Given the description of an element on the screen output the (x, y) to click on. 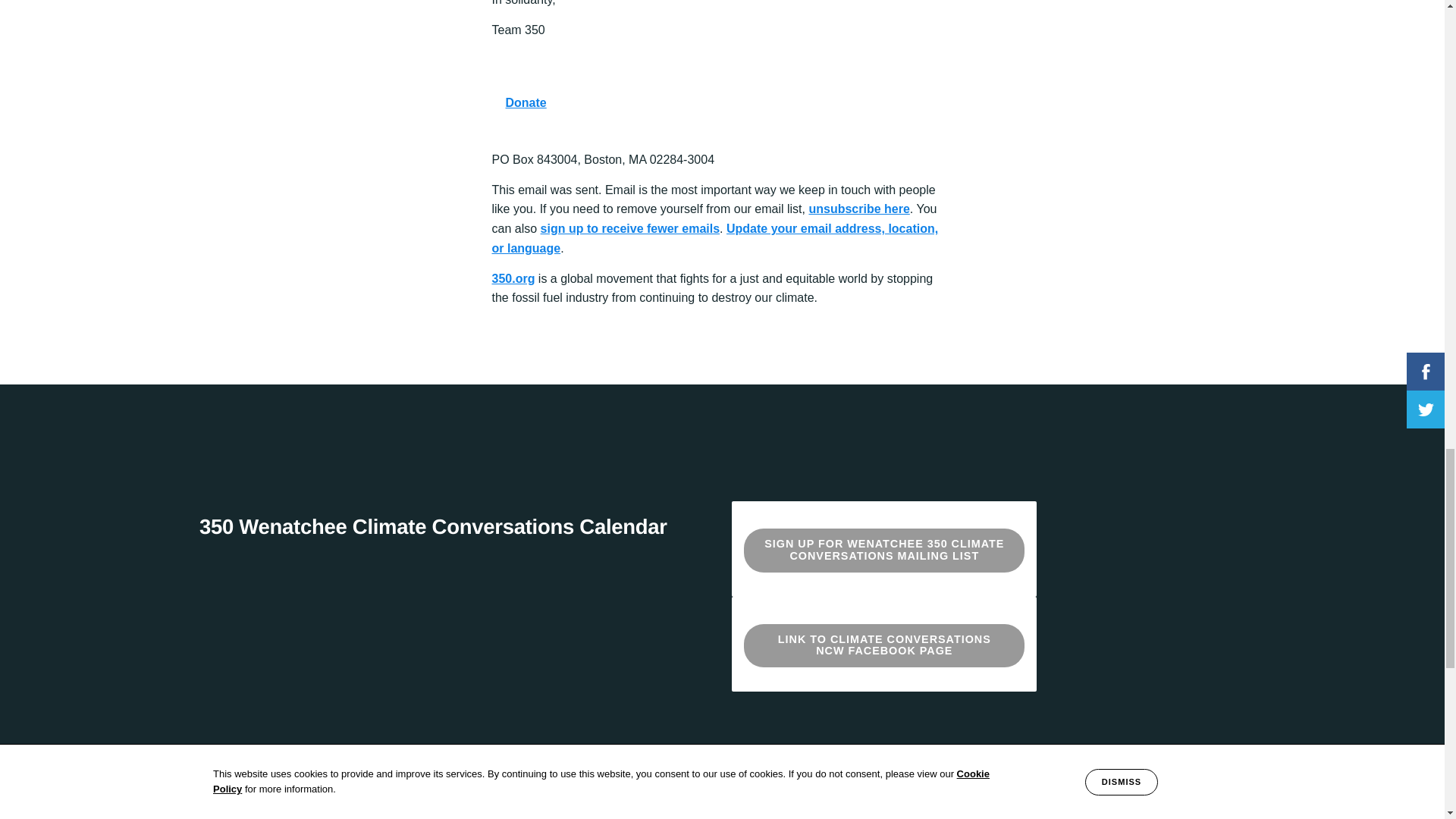
sign up to receive fewer emails (630, 228)
unsubscribe here (858, 208)
Donate (525, 102)
LINK TO CLIMATE CONVERSATIONS NCW FACEBOOK PAGE (884, 645)
SIGN UP FOR WENATCHEE 350 CLIMATE CONVERSATIONS MAILING LIST (884, 550)
350.org (513, 278)
Update your email address, location, or language (714, 237)
